Given the description of an element on the screen output the (x, y) to click on. 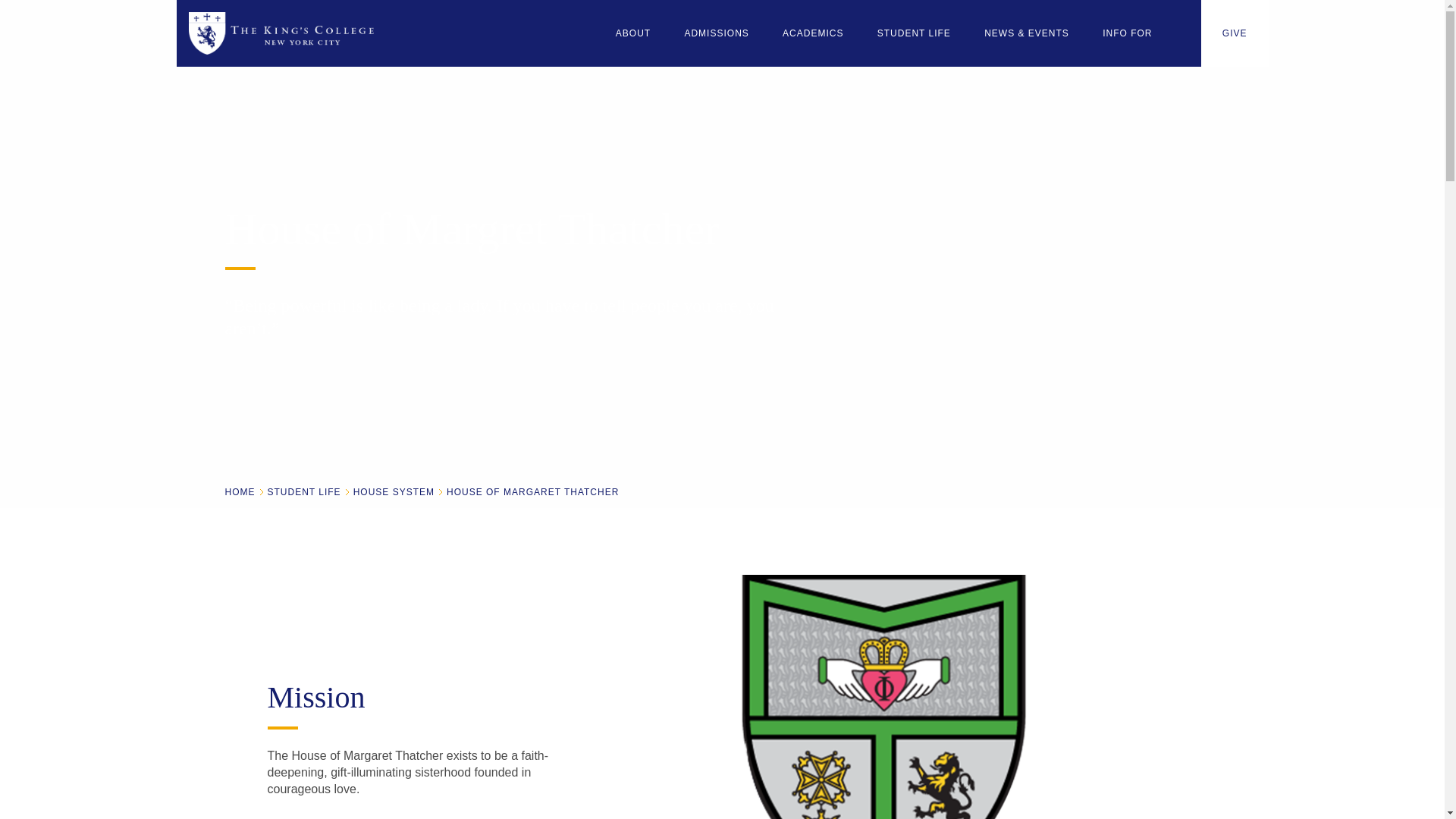
STUDENT LIFE (913, 33)
ADMISSIONS (716, 33)
ACADEMICS (812, 33)
